Given the description of an element on the screen output the (x, y) to click on. 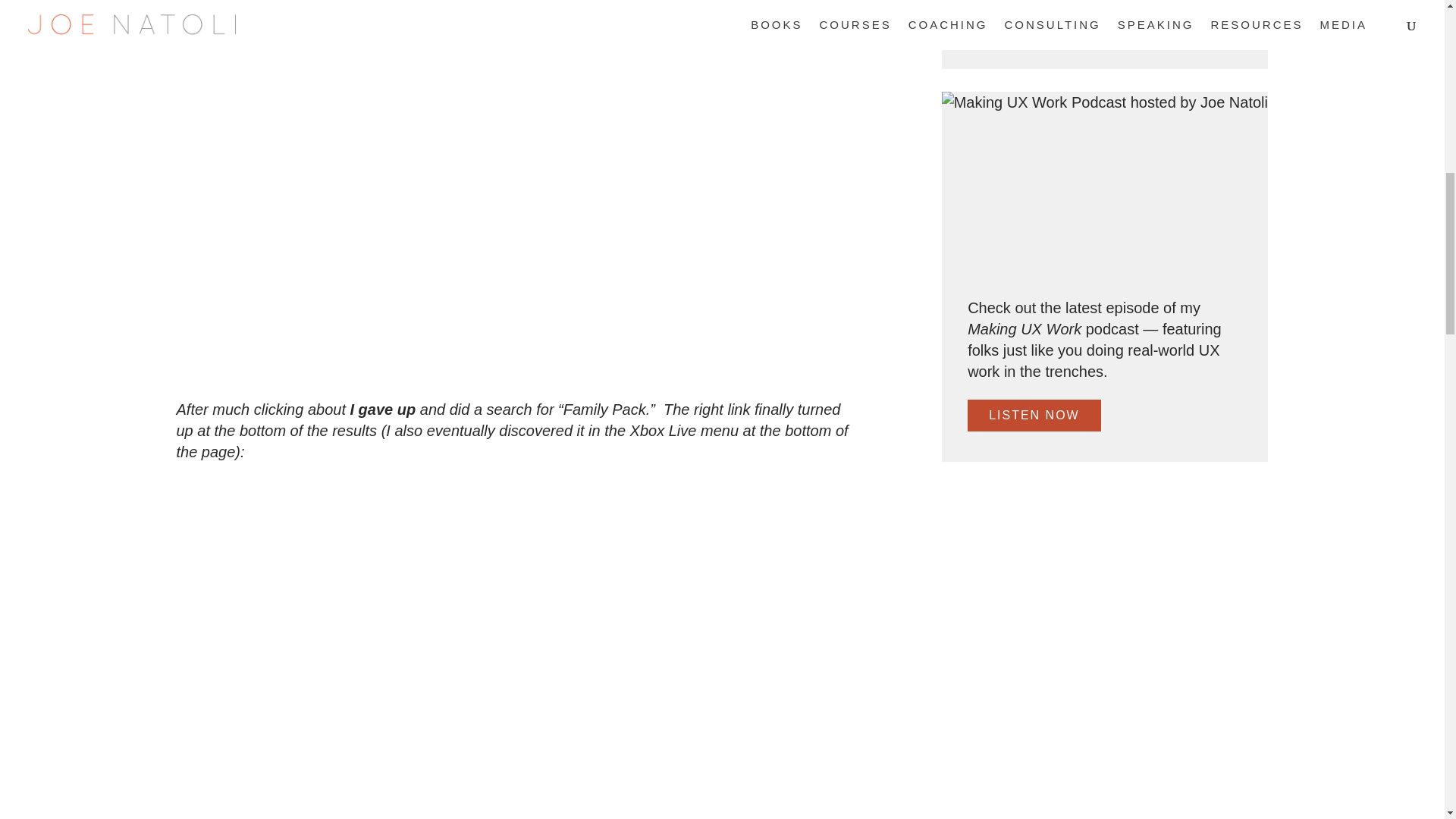
LISTEN NOW (1034, 415)
GET THINK FIRST (1051, 22)
